Given the description of an element on the screen output the (x, y) to click on. 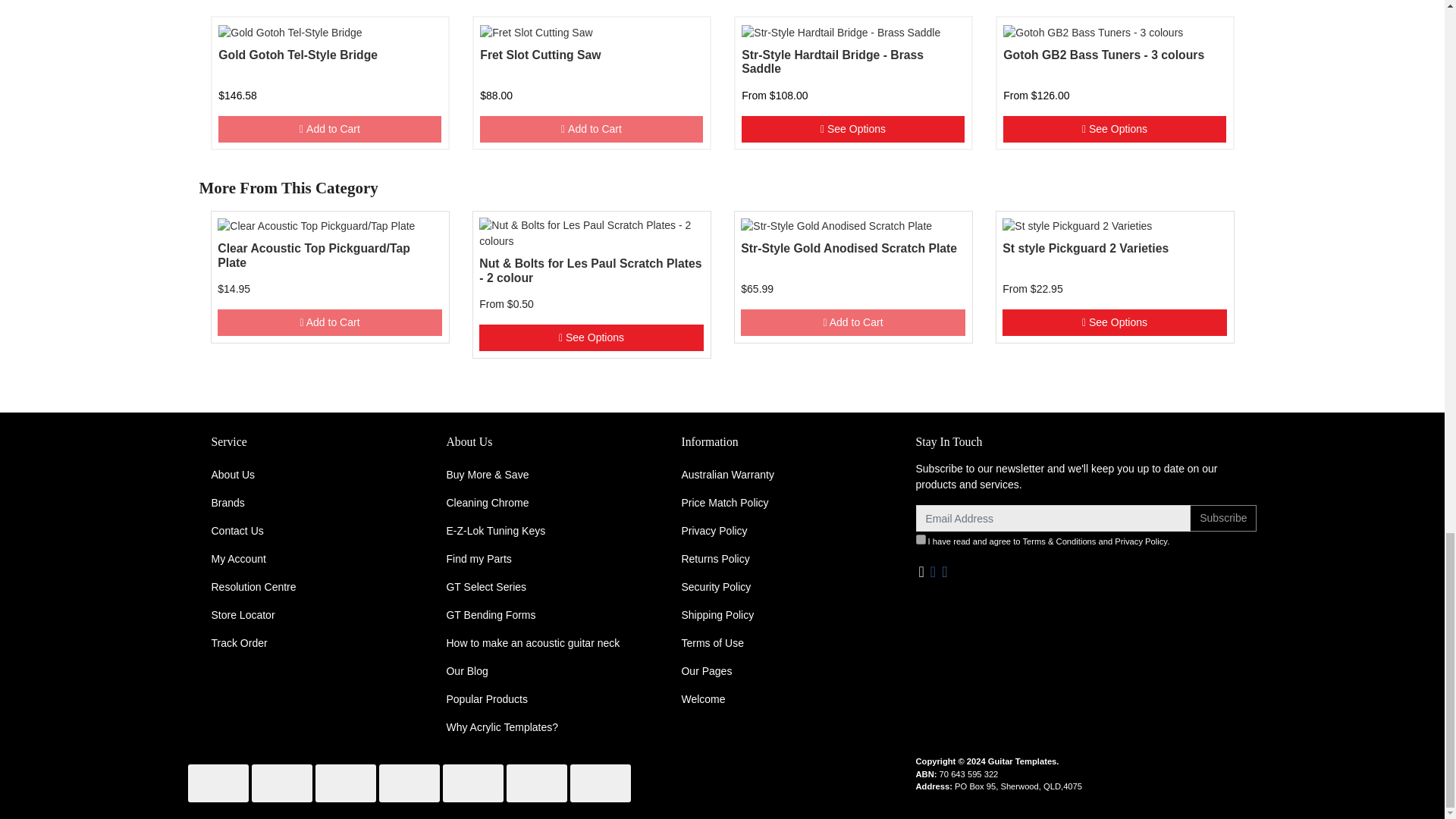
View Gotoh GB2 Bass Tuners - 3 colours Buying Options (1114, 129)
View Str-Style Hardtail Bridge - Brass Saddle Buying Options (852, 129)
y (920, 539)
Subscribe (1222, 518)
View St style Pickguard  2 Varieties Buying Options (1114, 322)
Add Fret Slot Cutting Saw to Cart (590, 129)
Add Gold Gotoh Tel-Style Bridge to Cart (329, 129)
Add Str-Style Gold Anodised Scratch Plate to Cart (852, 322)
